Given the description of an element on the screen output the (x, y) to click on. 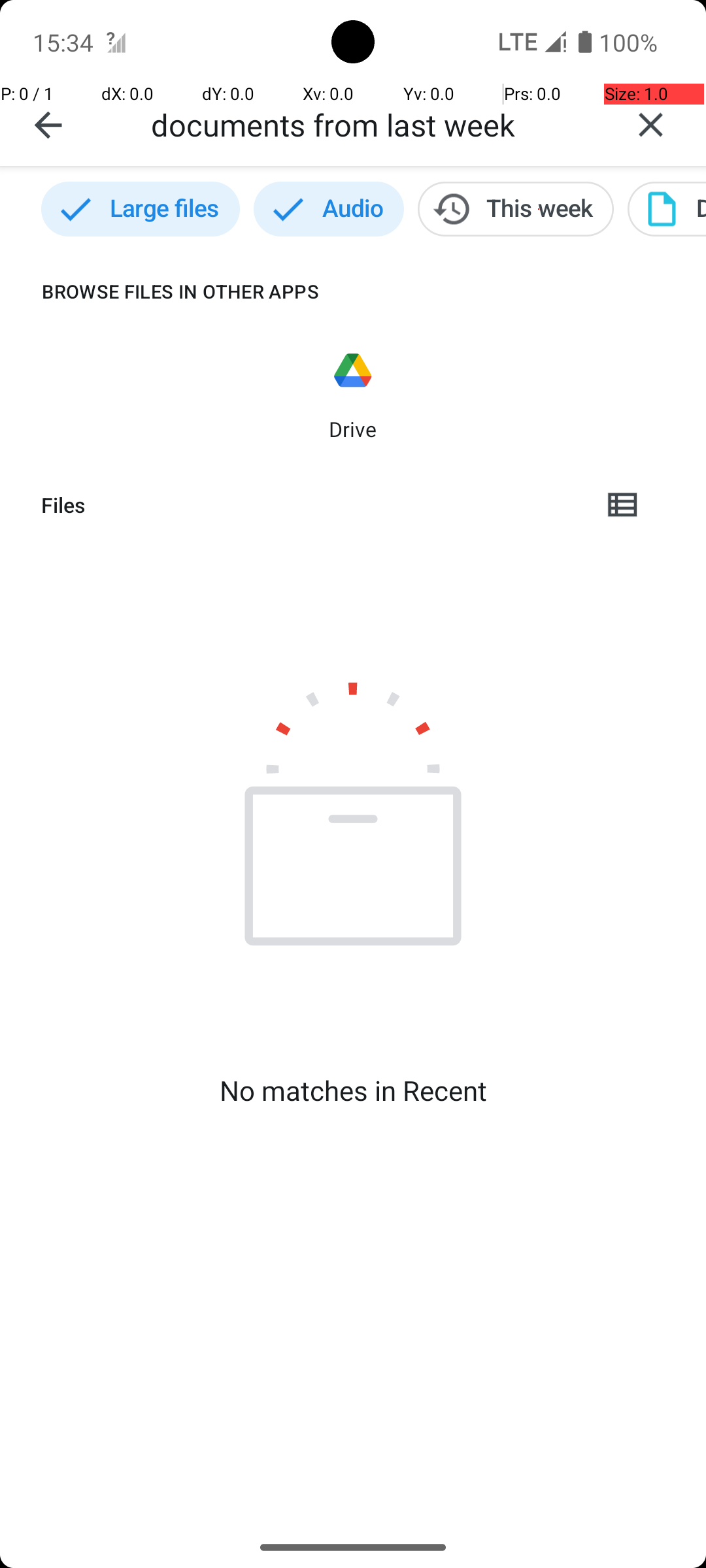
documents from last week Element type: android.widget.AutoCompleteTextView (373, 124)
